Given the description of an element on the screen output the (x, y) to click on. 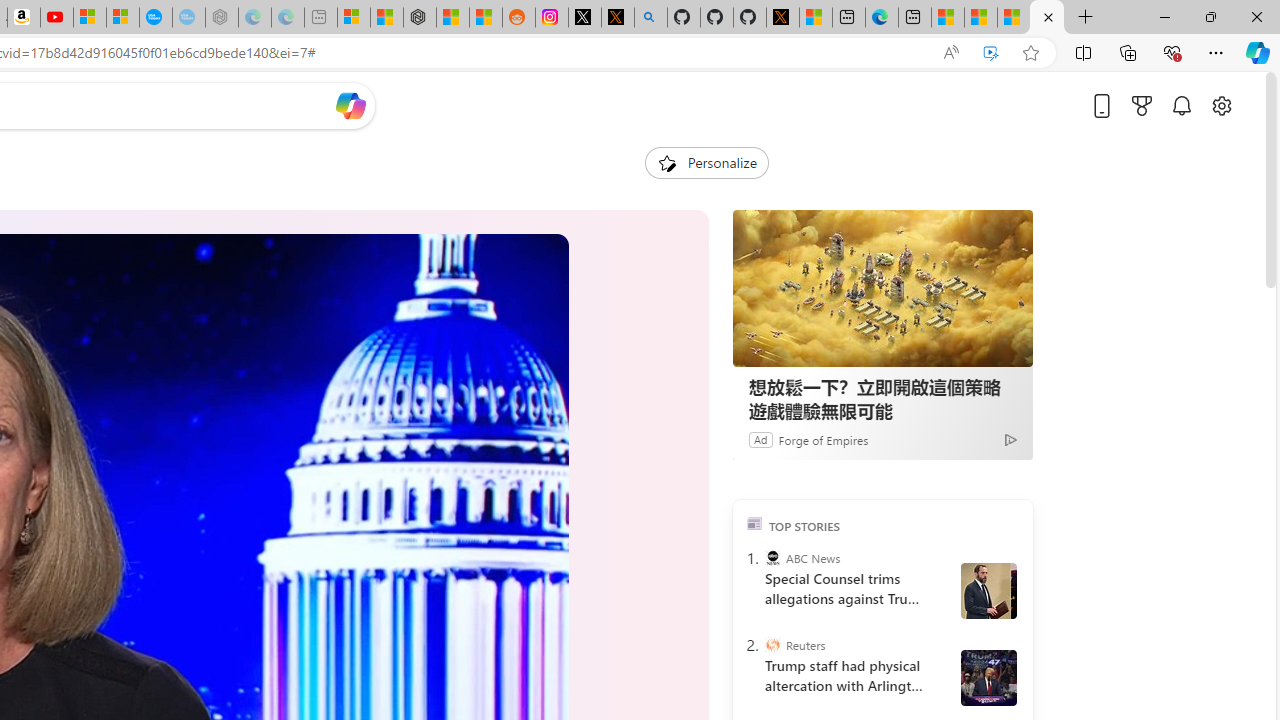
Reuters (772, 645)
Microsoft rewards (1142, 105)
Enhance video (991, 53)
Nordace - Duffels (420, 17)
help.x.com | 524: A timeout occurred (617, 17)
